Given the description of an element on the screen output the (x, y) to click on. 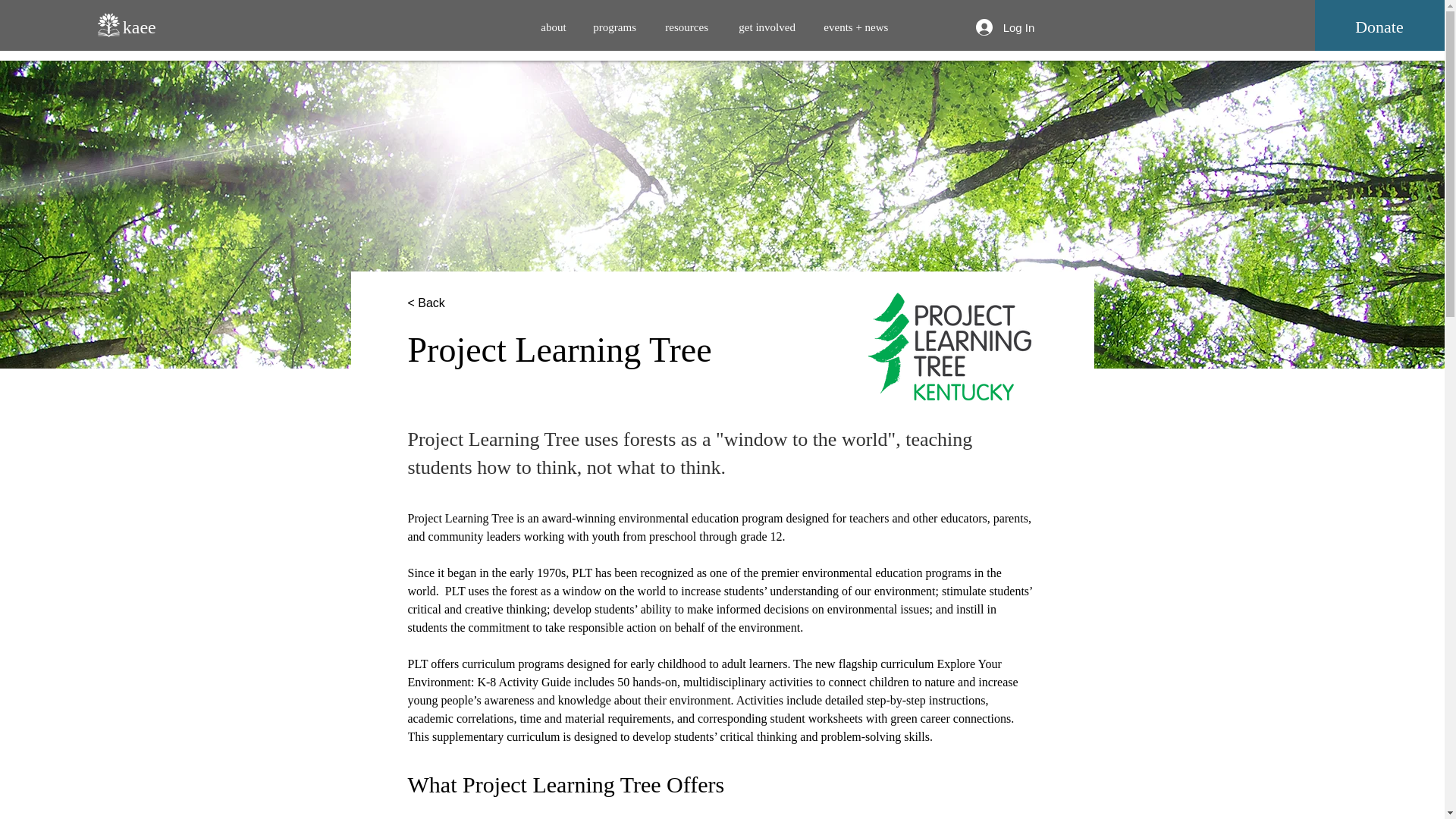
Log In (1005, 27)
kaee (138, 27)
Donate (1378, 27)
plt.png (949, 346)
